Given the description of an element on the screen output the (x, y) to click on. 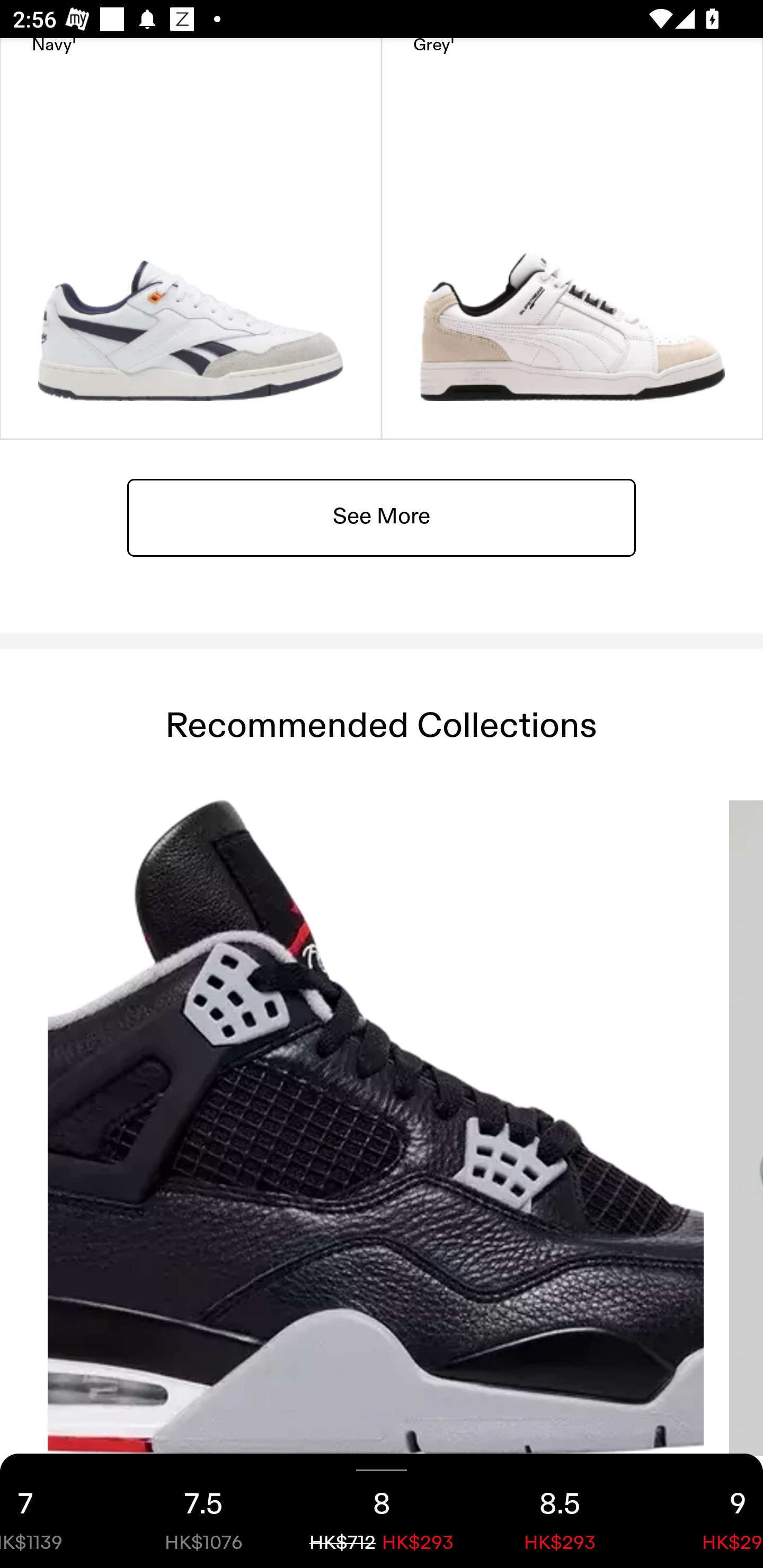
BB4000 2 'My Name Is - Vector Navy' (190, 238)
Slipstream Lo Retro 'White Vaporous Grey' (572, 238)
See More (381, 516)
7 HK$1139 (57, 1510)
7.5 HK$1076 (203, 1510)
8 HK$712 HK$293 (381, 1510)
8.5 HK$293 (559, 1510)
9 HK$293 (705, 1510)
